Given the description of an element on the screen output the (x, y) to click on. 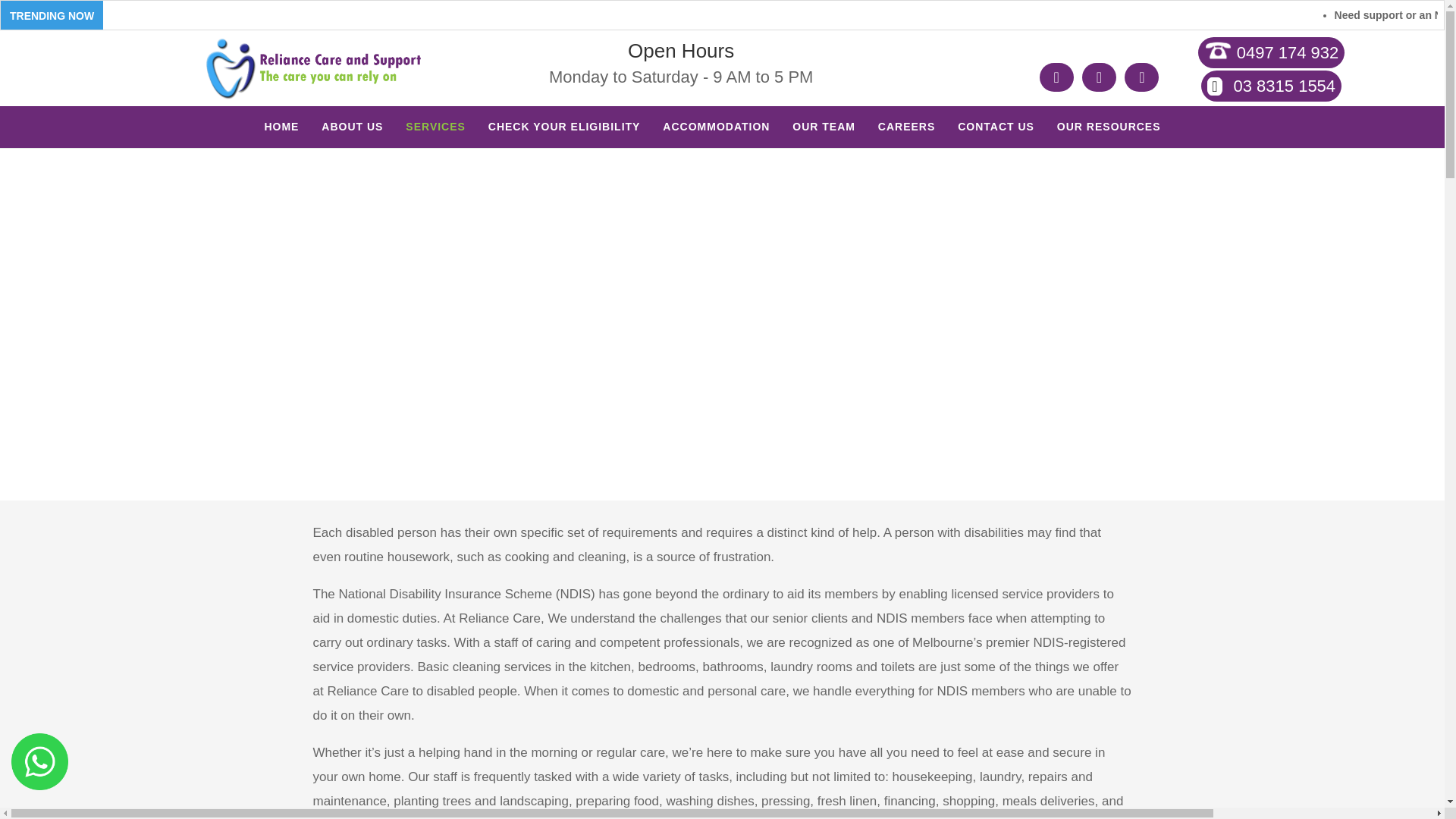
CONTACT US (995, 134)
SERVICES (435, 134)
OUR TEAM (824, 134)
HOME (280, 134)
CAREERS (905, 134)
OUR RESOURCES (1108, 134)
ABOUT US (351, 134)
0497 174 932 (1270, 51)
CHECK YOUR ELIGIBILITY (563, 134)
03 8315 1554 (1270, 85)
